Given the description of an element on the screen output the (x, y) to click on. 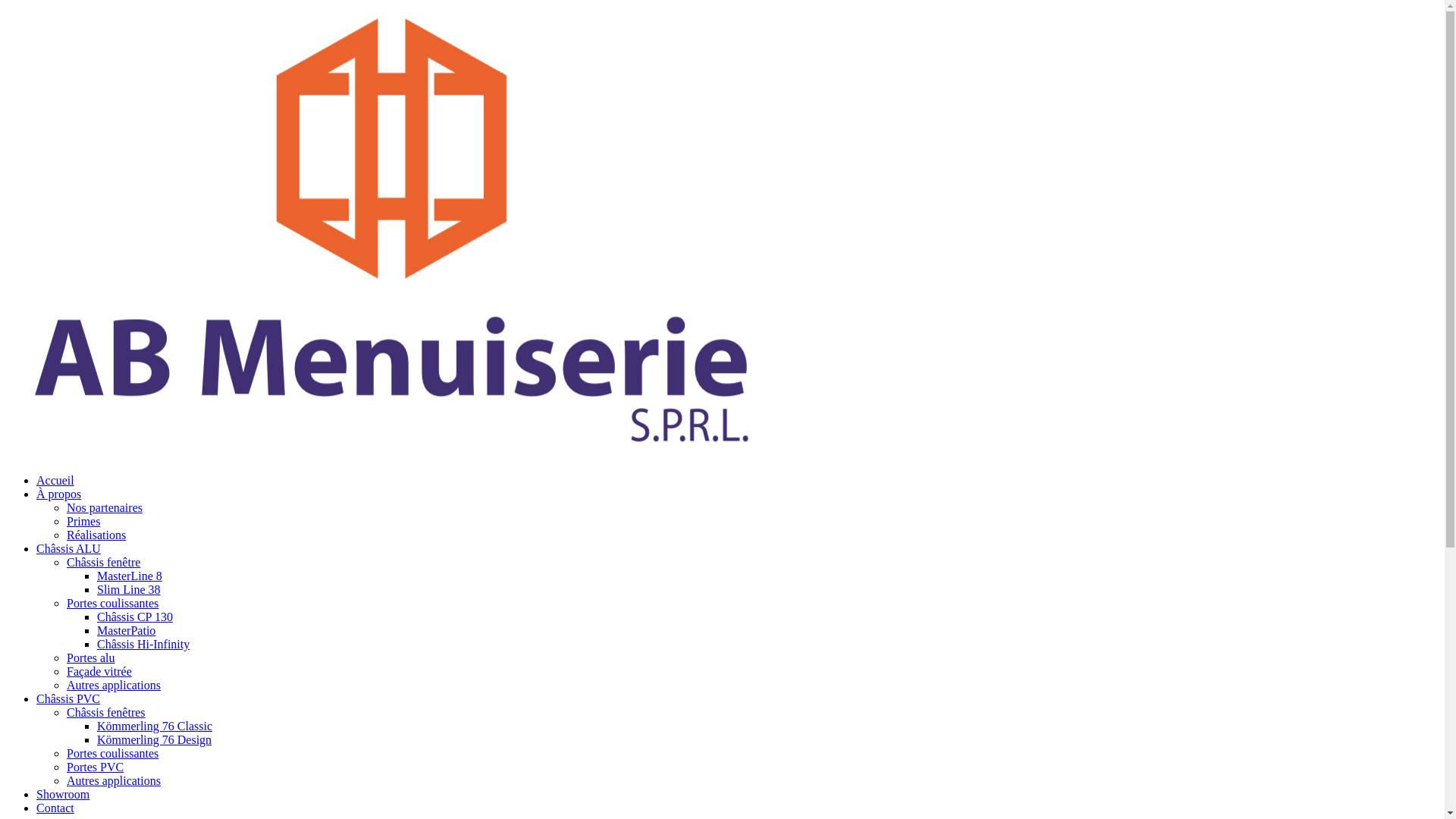
MasterLine 8 Element type: text (129, 575)
Slim Line 38 Element type: text (128, 589)
Contact Element type: text (55, 807)
Portes PVC Element type: text (94, 766)
Portes alu Element type: text (90, 657)
MasterPatio Element type: text (126, 630)
Portes coulissantes Element type: text (112, 602)
Portes coulissantes Element type: text (112, 752)
Showroom Element type: text (62, 793)
Autres applications Element type: text (113, 684)
Accueil Element type: text (55, 479)
Autres applications Element type: text (113, 780)
Primes Element type: text (83, 520)
Nos partenaires Element type: text (104, 507)
